Given the description of an element on the screen output the (x, y) to click on. 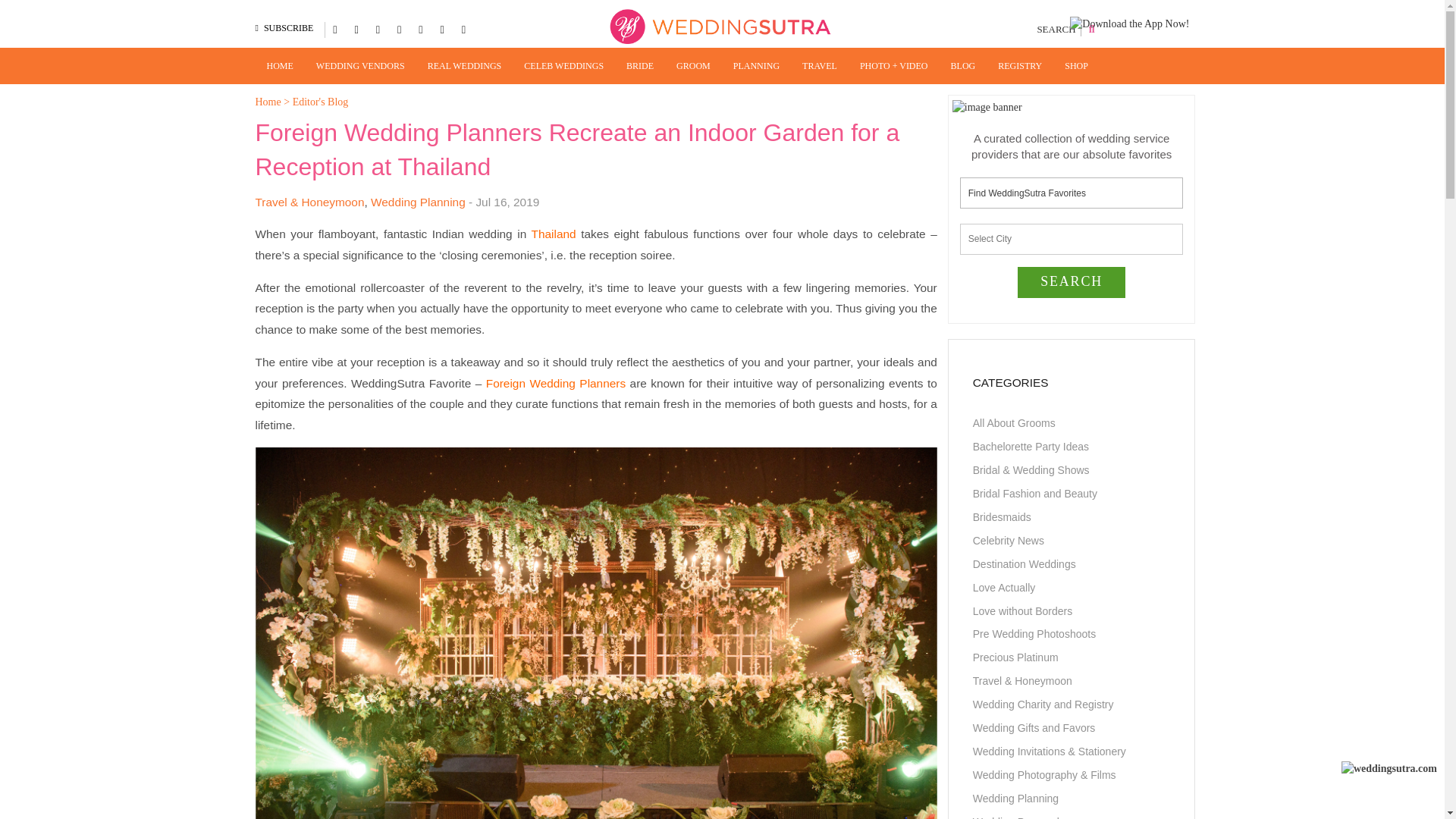
WEDDING VENDORS (360, 65)
Install (13, 67)
PLANNING (756, 65)
REAL WEDDINGS (464, 65)
Search (1071, 282)
